Given the description of an element on the screen output the (x, y) to click on. 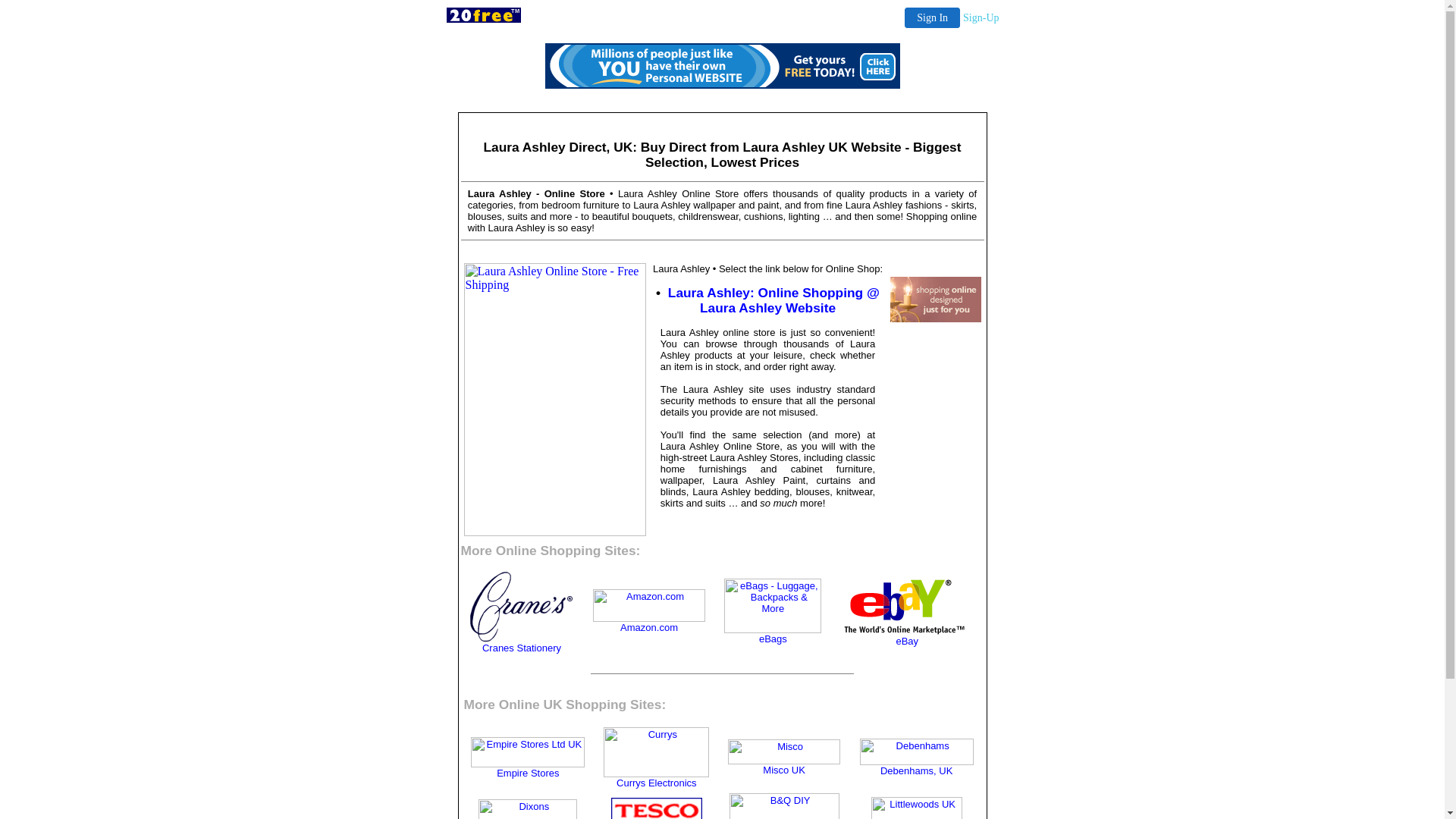
Sign In Element type: text (932, 17)
eBags Element type: text (773, 638)
eBay Element type: text (906, 640)
Debenhams, UK Element type: text (916, 770)
Amazon.com Element type: text (648, 627)
Laura Ashley: Online Shopping @ Laura Ashley Website Element type: text (773, 300)
Sign-Up Element type: text (980, 17)
Empire Stores Element type: text (527, 772)
Cranes Stationery Element type: text (521, 647)
Currys Electronics Element type: text (656, 782)
Misco UK Element type: text (783, 769)
